Given the description of an element on the screen output the (x, y) to click on. 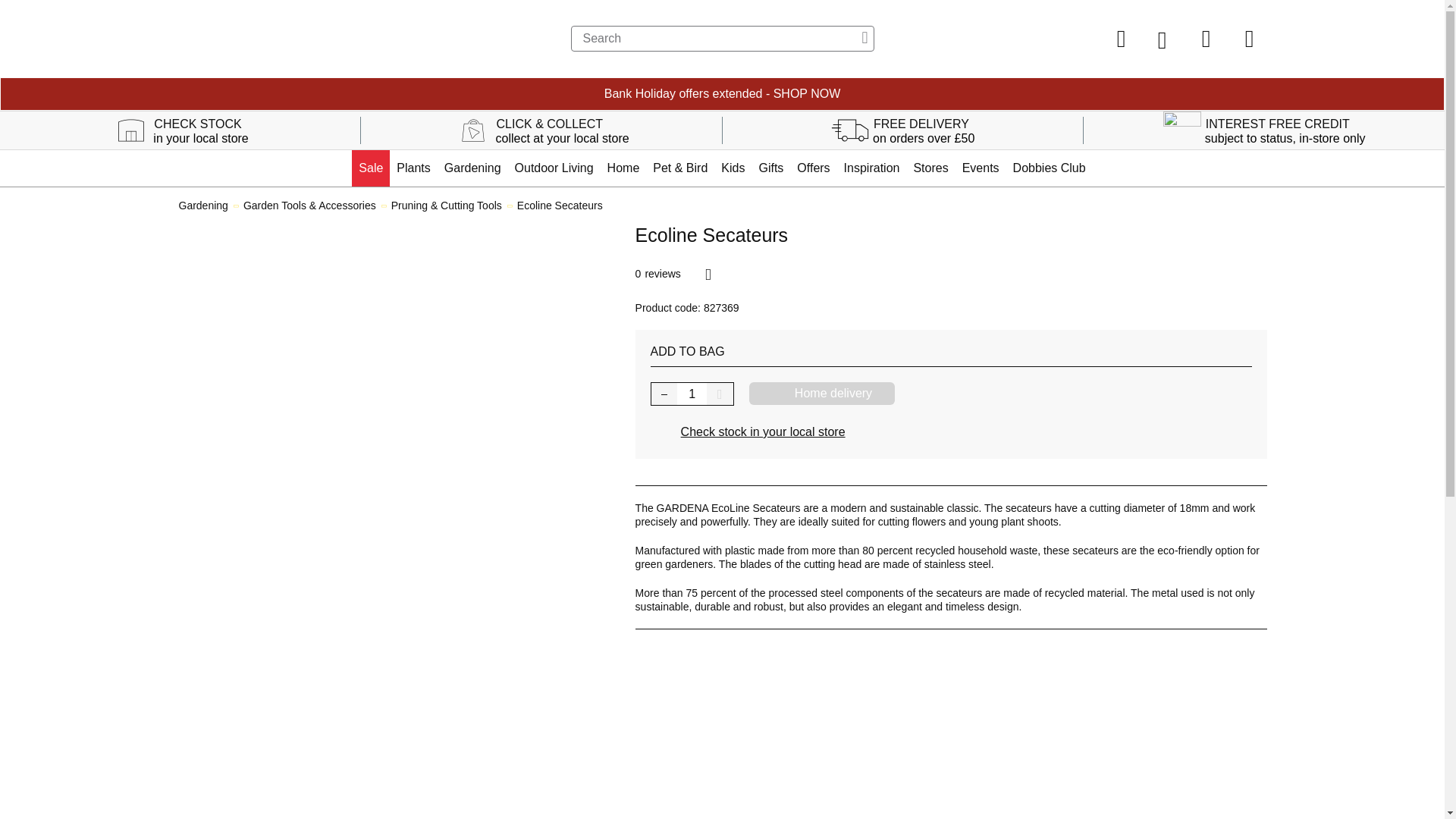
Bank Holiday offers extended - SHOP NOW (721, 93)
FREE DELIVERY (920, 127)
Cart (1248, 38)
Search (721, 38)
1 (691, 393)
INTEREST FREE CREDIT (1278, 127)
Plants (413, 167)
Sale (371, 167)
Bank Holiday offers extended - SHOP NOW (721, 93)
Press to increment quantity by 1 (719, 393)
